Given the description of an element on the screen output the (x, y) to click on. 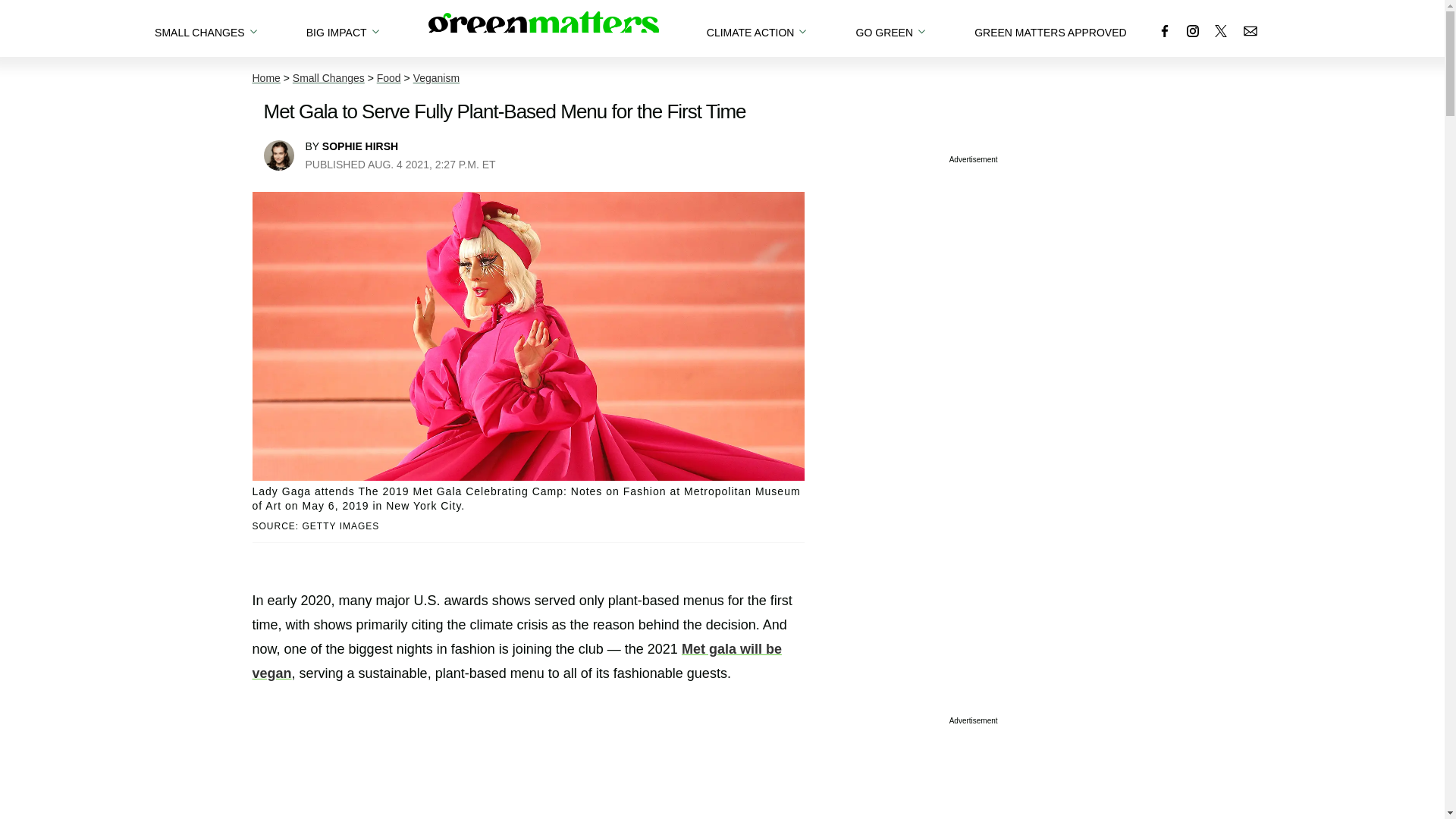
LINK TO EMAIL SUBSCRIBE (1250, 30)
LINK TO X (1220, 30)
GREEN MATTERS APPROVED (1049, 27)
LINK TO FACEBOOK (1164, 30)
LINK TO INSTAGRAM (1192, 30)
